Given the description of an element on the screen output the (x, y) to click on. 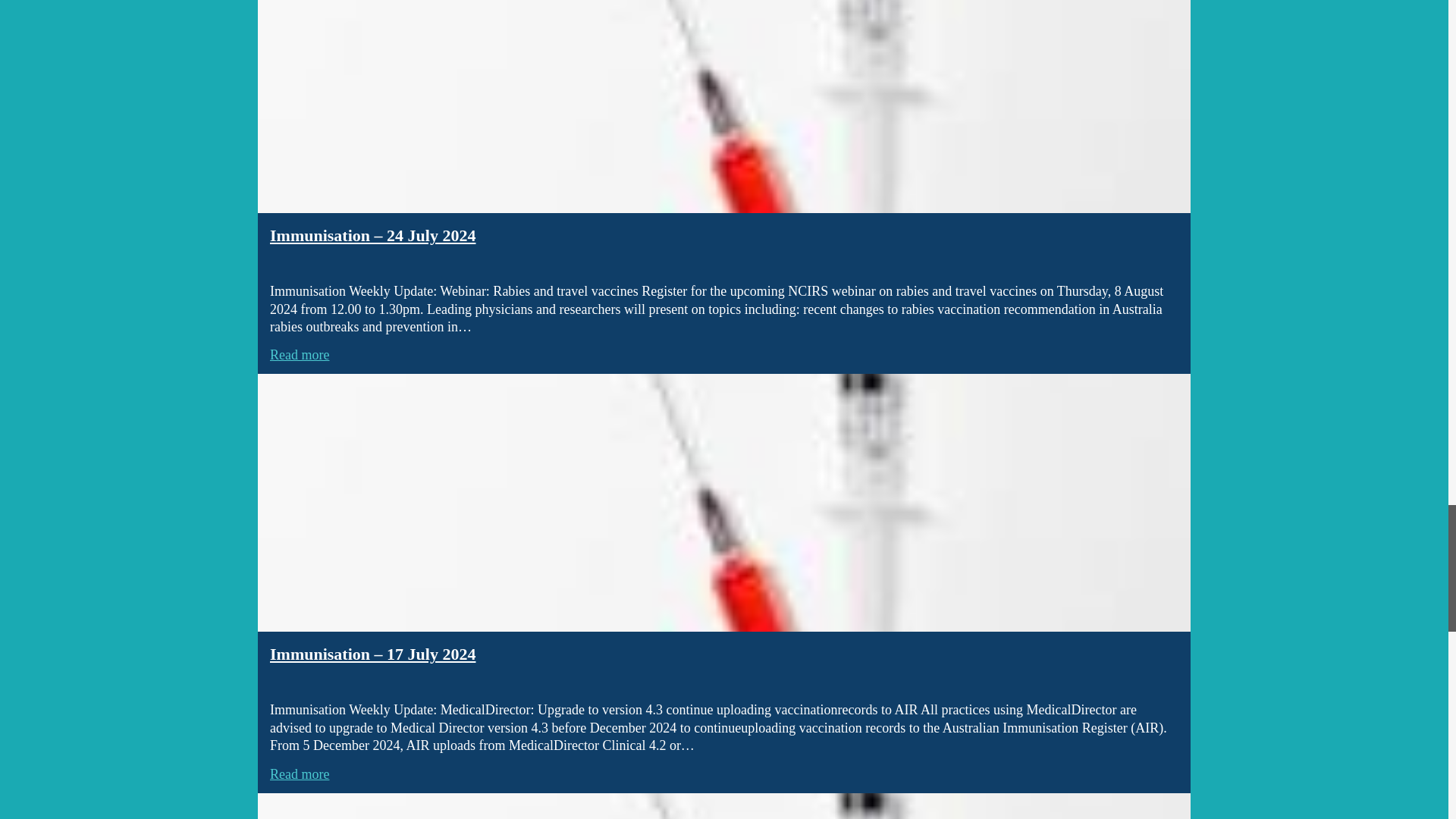
Download (724, 806)
